Given the description of an element on the screen output the (x, y) to click on. 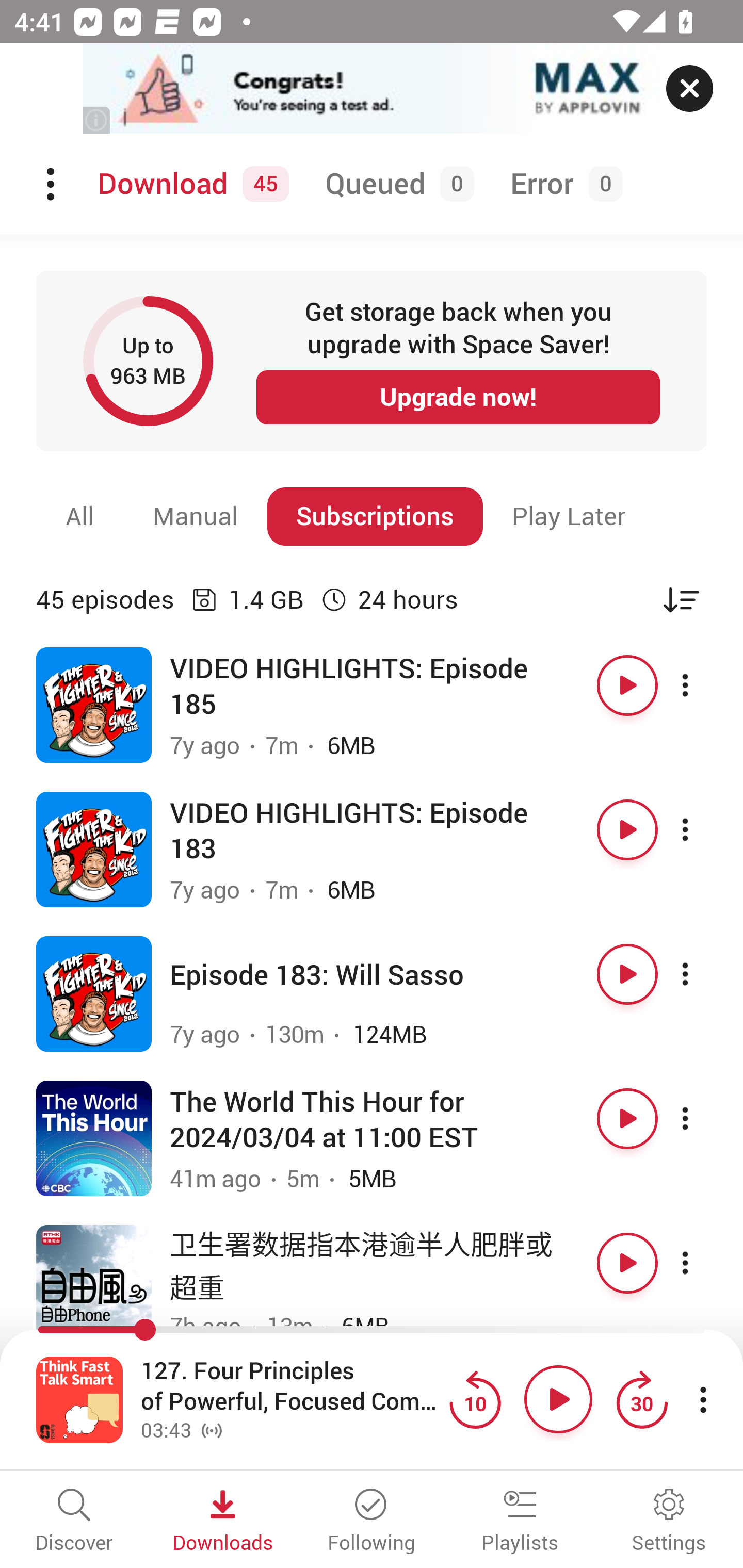
app-monetization (371, 88)
(i) (96, 119)
Menu (52, 184)
 Download 45 (189, 184)
 Queued 0 (396, 184)
 Error 0 (562, 184)
All (80, 516)
Manual (195, 516)
Subscriptions (374, 516)
Play Later (568, 516)
Change sort order (681, 599)
Play button (627, 685)
More options (703, 685)
Open series The Fighter & The Kid (93, 705)
Play button (627, 830)
More options (703, 830)
Open series The Fighter & The Kid (93, 849)
Play button (627, 974)
More options (703, 974)
Open series The Fighter & The Kid (93, 994)
Play button (627, 1118)
More options (703, 1118)
Open series The World This Hour (93, 1138)
Play button (627, 1263)
More options (703, 1263)
Open series 自由风自由PHONE (93, 1282)
Open fullscreen player (79, 1399)
More player controls (703, 1399)
Play button (558, 1398)
Jump back (475, 1399)
Jump forward (641, 1399)
Discover (74, 1521)
Downloads (222, 1521)
Following (371, 1521)
Playlists (519, 1521)
Settings (668, 1521)
